Given the description of an element on the screen output the (x, y) to click on. 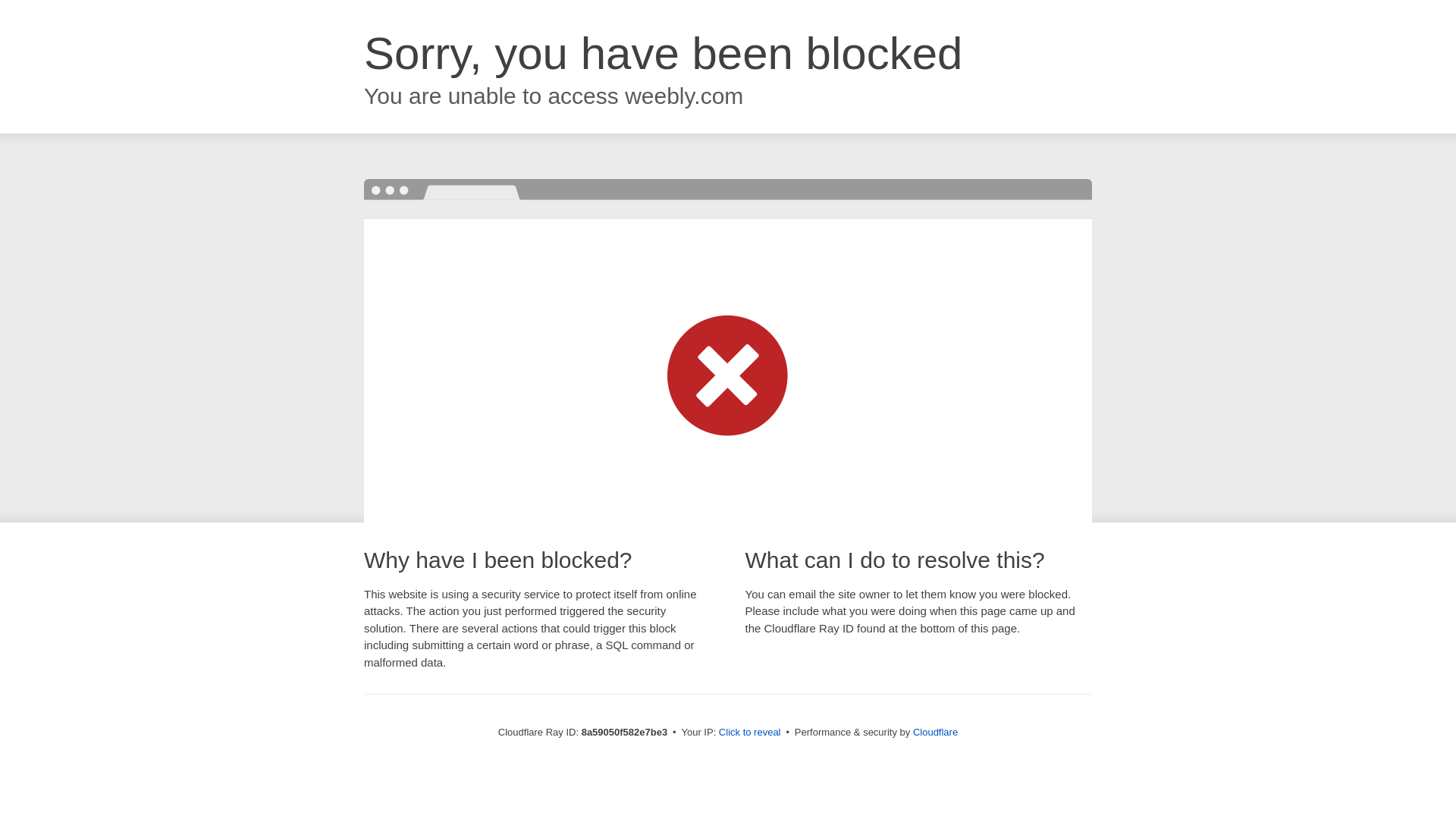
Click to reveal (749, 732)
Cloudflare (935, 731)
